Given the description of an element on the screen output the (x, y) to click on. 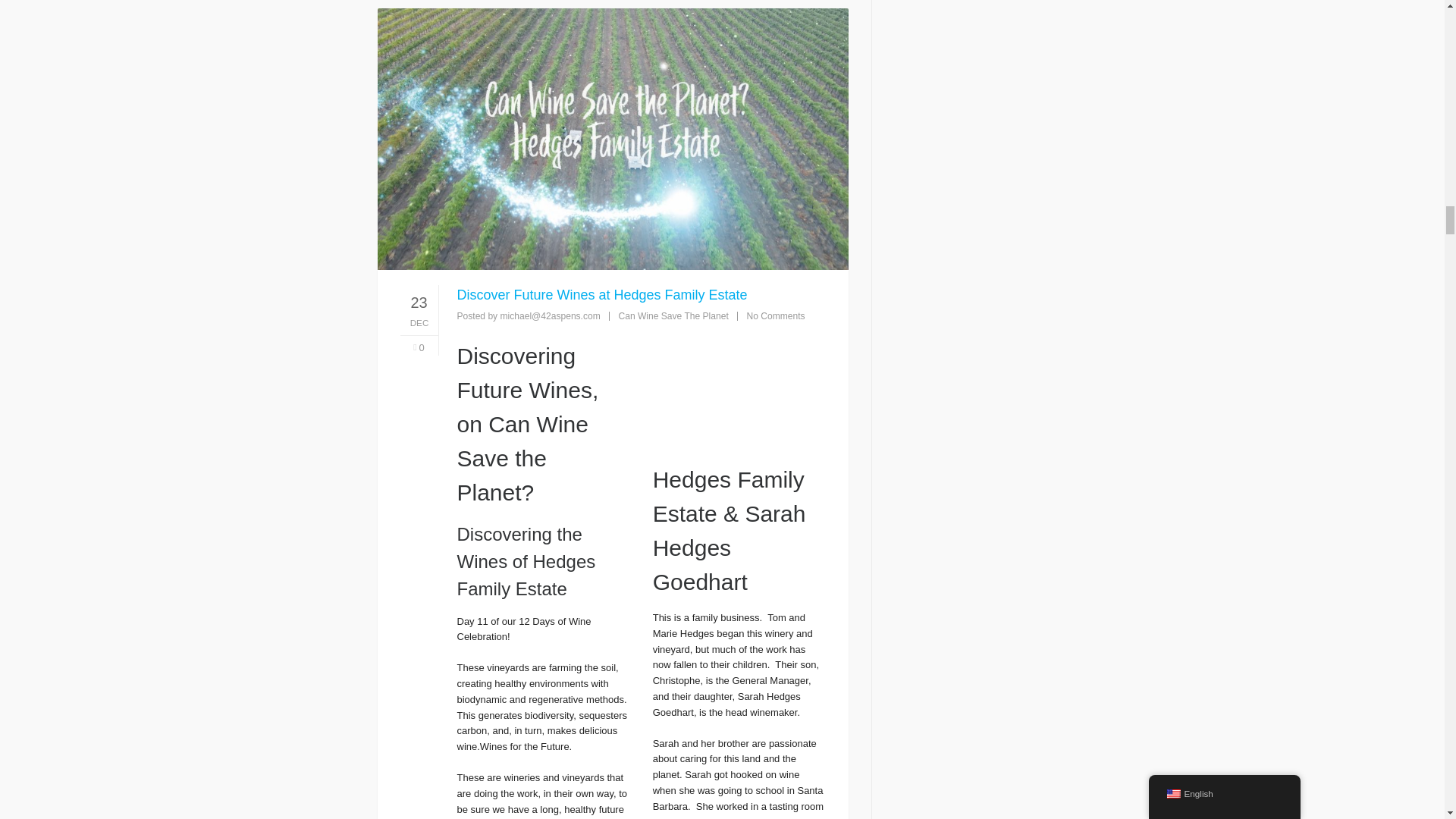
Discover Future Wines at  Hedges Family Estate (738, 387)
No Comments (775, 316)
